Given the description of an element on the screen output the (x, y) to click on. 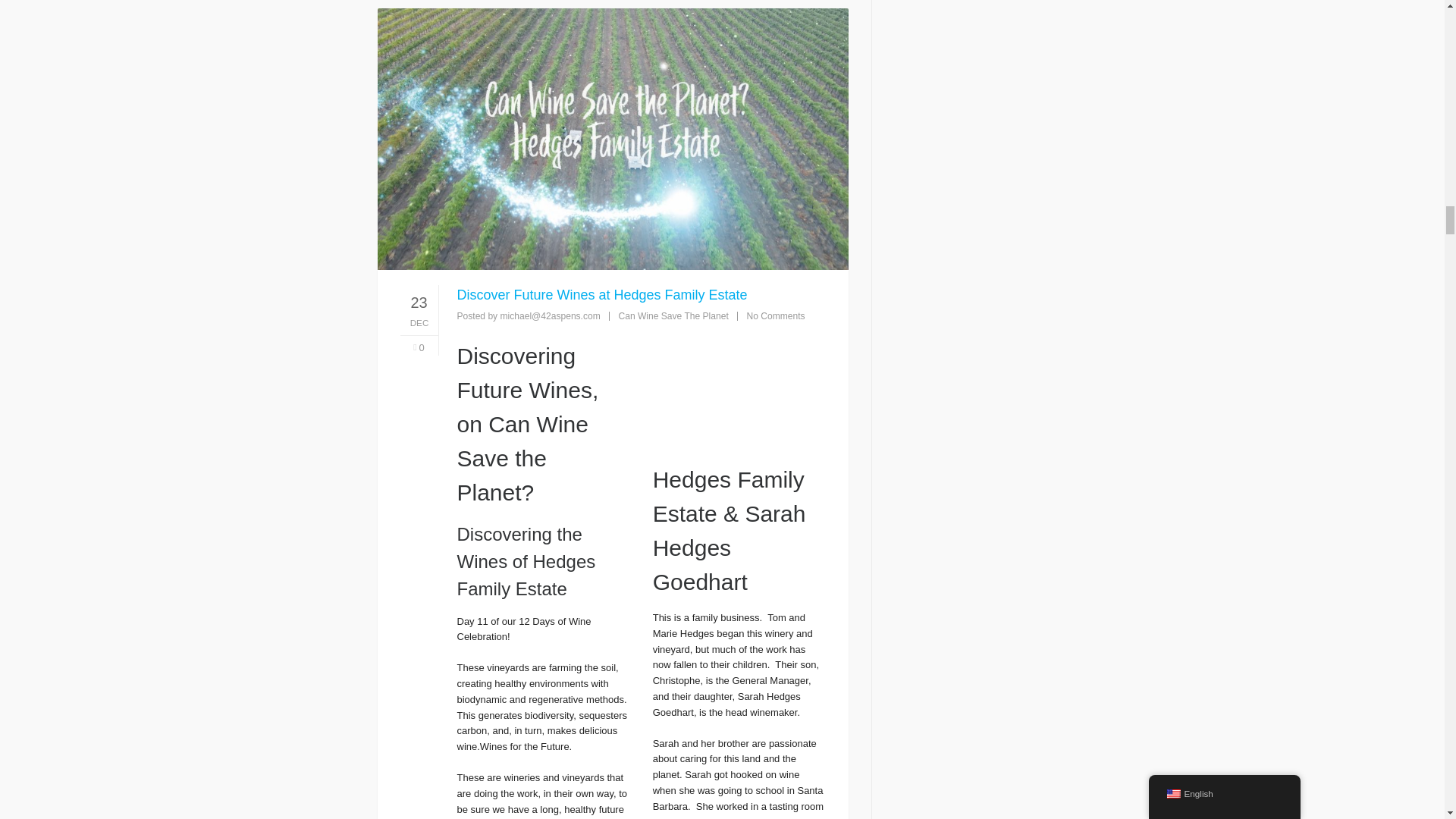
Discover Future Wines at  Hedges Family Estate (738, 387)
No Comments (775, 316)
